Given the description of an element on the screen output the (x, y) to click on. 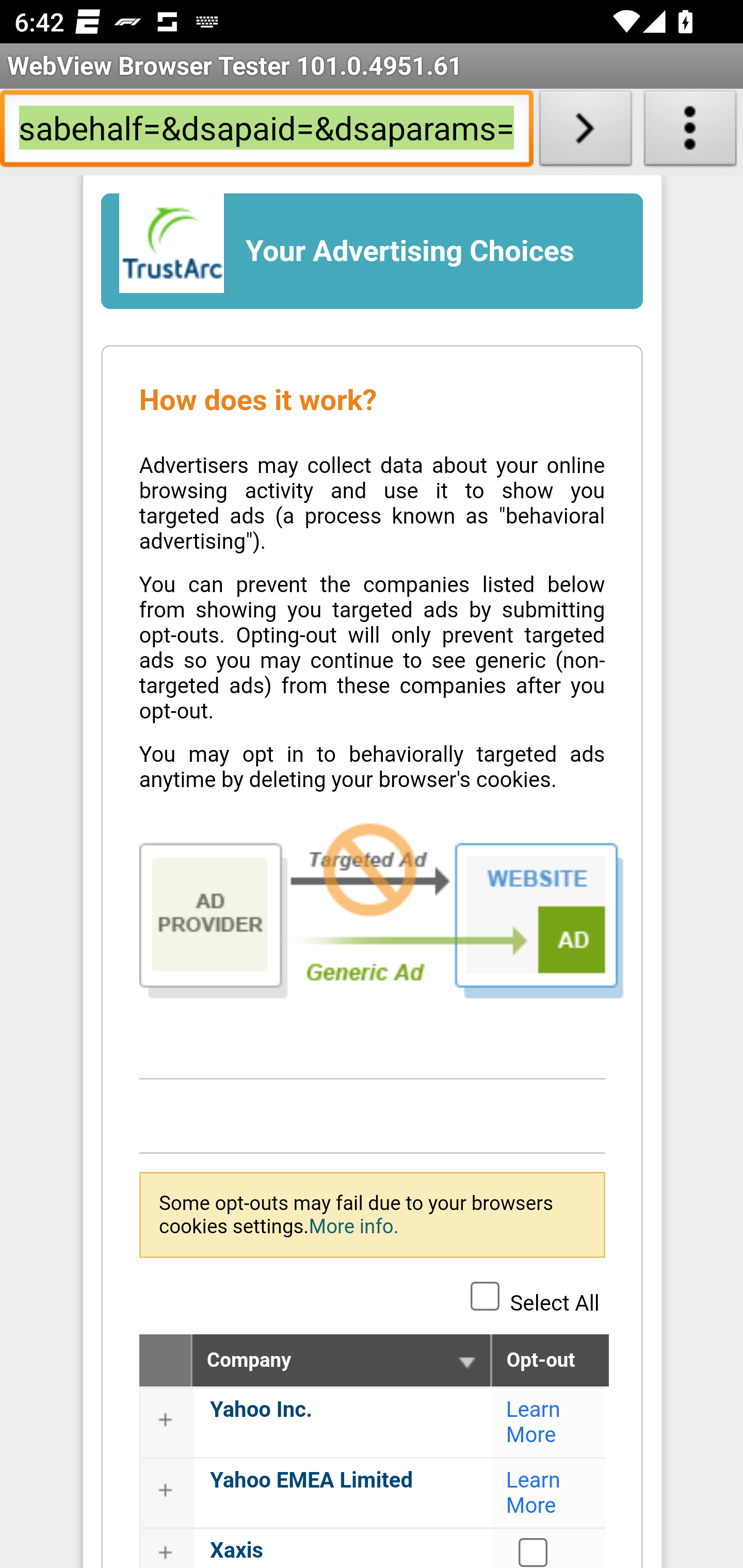
Load URL (585, 132)
About WebView (690, 132)
More info. (352, 1225)
 Select All  (484, 1294)
Company list, sort alphabetically descending (466, 1361)
Yahoo Inc. (261, 1408)
Learn More (533, 1421)
Yahoo EMEA Limited (311, 1480)
Learn More (533, 1492)
Xaxis (236, 1549)
Xaxis (533, 1551)
